Given the description of an element on the screen output the (x, y) to click on. 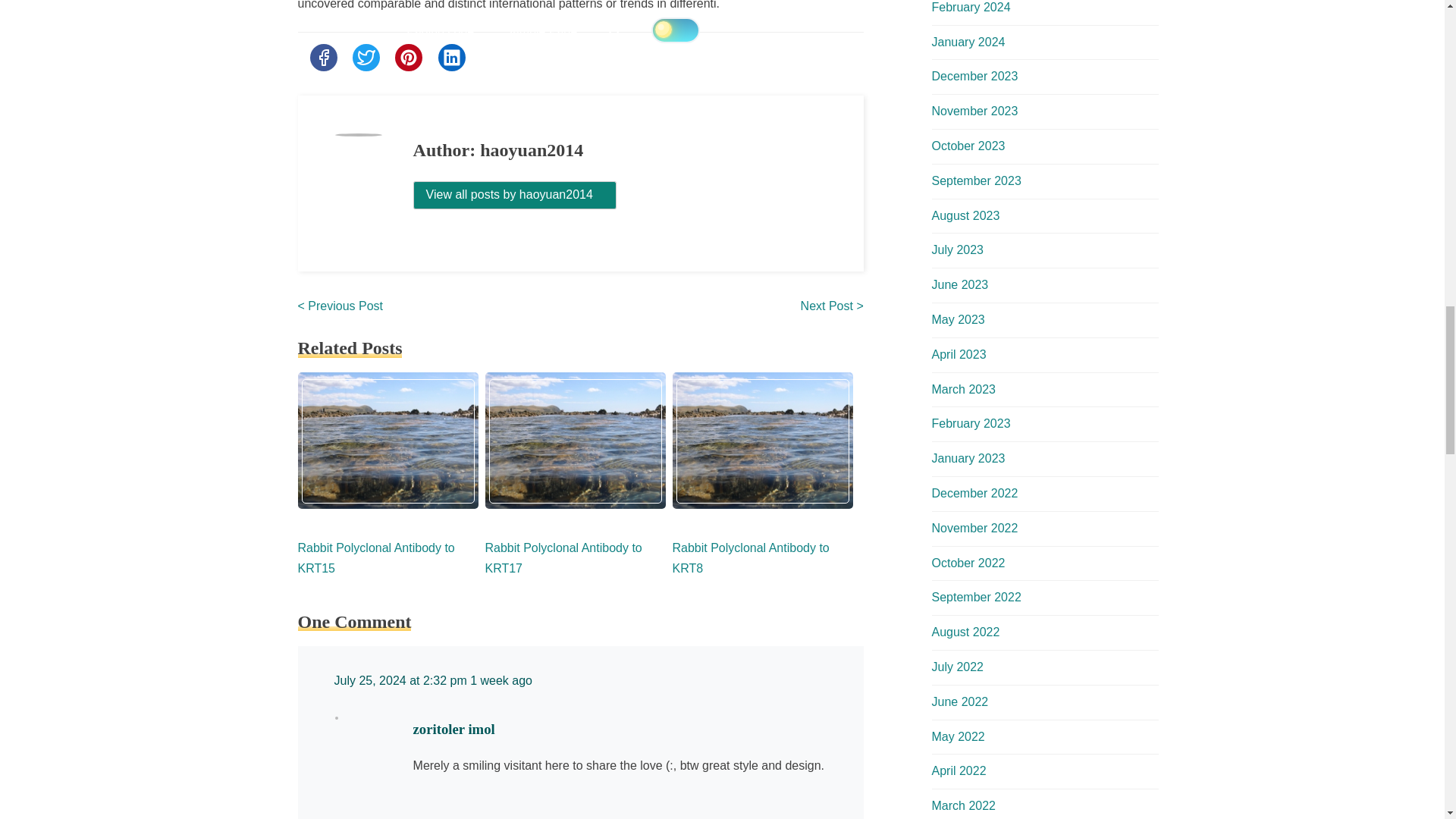
Share this post on Facebook (322, 57)
Rabbit Polyclonal Antibody to KRT17 (563, 557)
Rabbit Polyclonal Antibody to KRT15 (375, 557)
Share this post on Linkedin (451, 57)
View all posts by haoyuan2014 (515, 194)
zoritoler imol (454, 729)
July 25, 2024 at 2:32 pm 1 week ago (432, 680)
Rabbit Polyclonal Antibody to KRT8 (749, 557)
View all posts by haoyuan2014 (514, 194)
Share this post on Pinterest (408, 57)
